Given the description of an element on the screen output the (x, y) to click on. 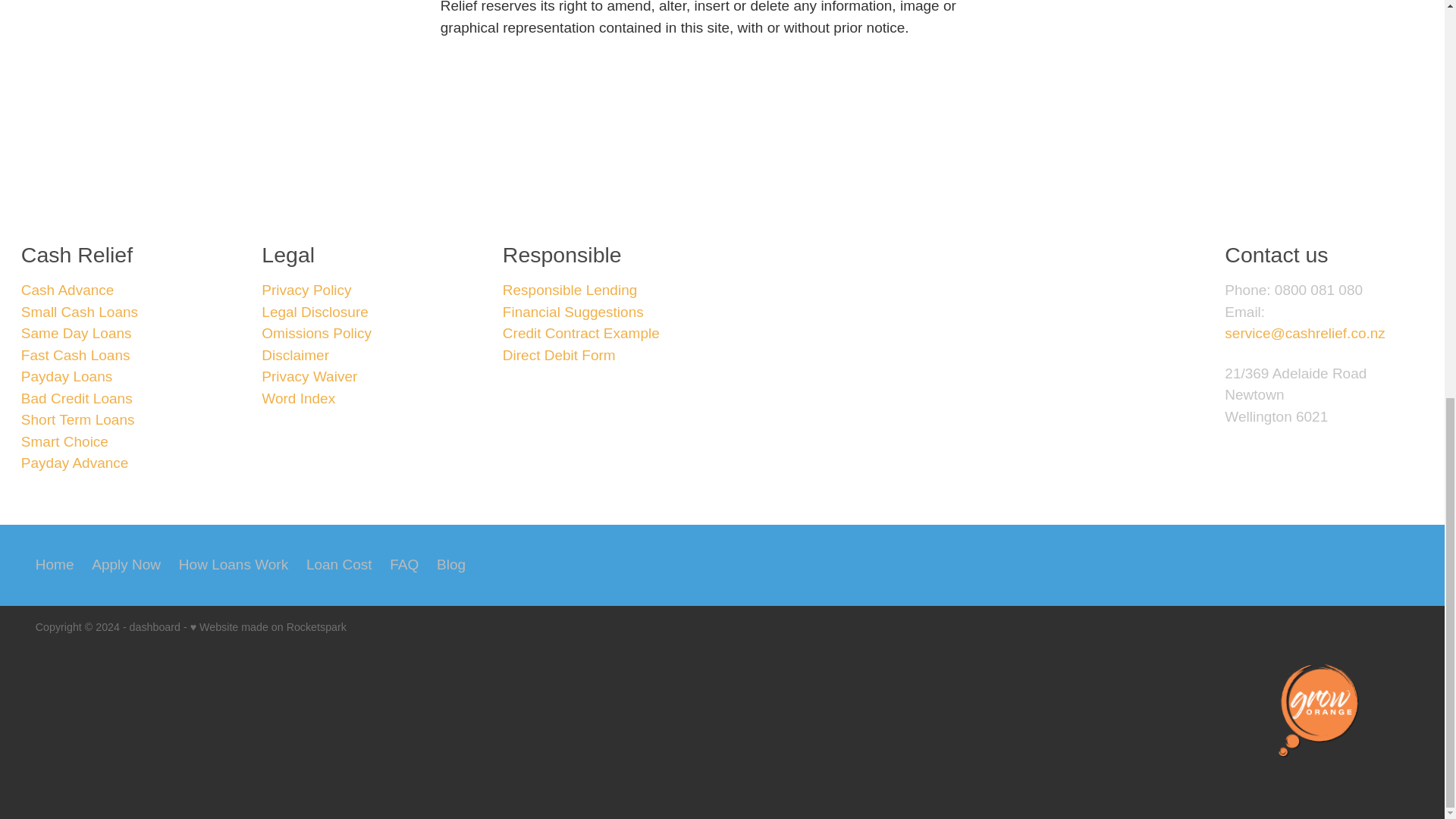
Privacy Waiver (309, 376)
Small Cash Loans (79, 311)
Apply Now (126, 565)
Fast Cash Loans (76, 355)
Cash Advance (68, 289)
Same Day Loans (76, 333)
Payday Loans (66, 376)
Privacy Policy (306, 289)
Responsible Lending (569, 289)
How Loans Work (233, 565)
Omissions Policy (316, 333)
dashboard (154, 626)
Bad Credit Loans (76, 398)
Financial Suggestions (572, 311)
Legal Disclosure (315, 311)
